Given the description of an element on the screen output the (x, y) to click on. 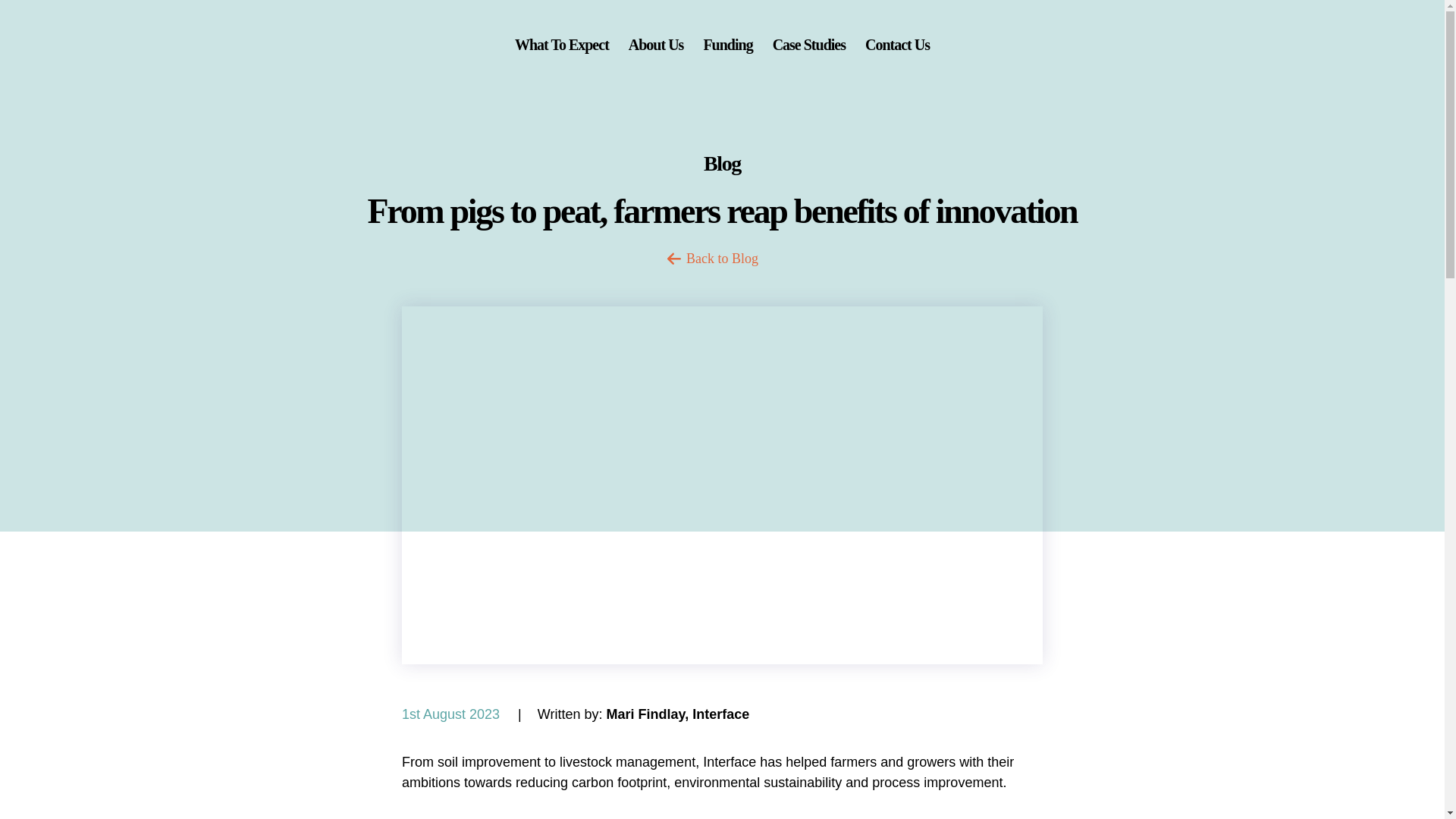
Case Studies (809, 44)
Contact Us (897, 44)
Funding (727, 44)
Back to Blog (721, 258)
About Us (656, 44)
Back to Blog (721, 258)
Case Studies (809, 44)
About Us (656, 44)
What To Expect (561, 44)
What To Expect (561, 44)
